Given the description of an element on the screen output the (x, y) to click on. 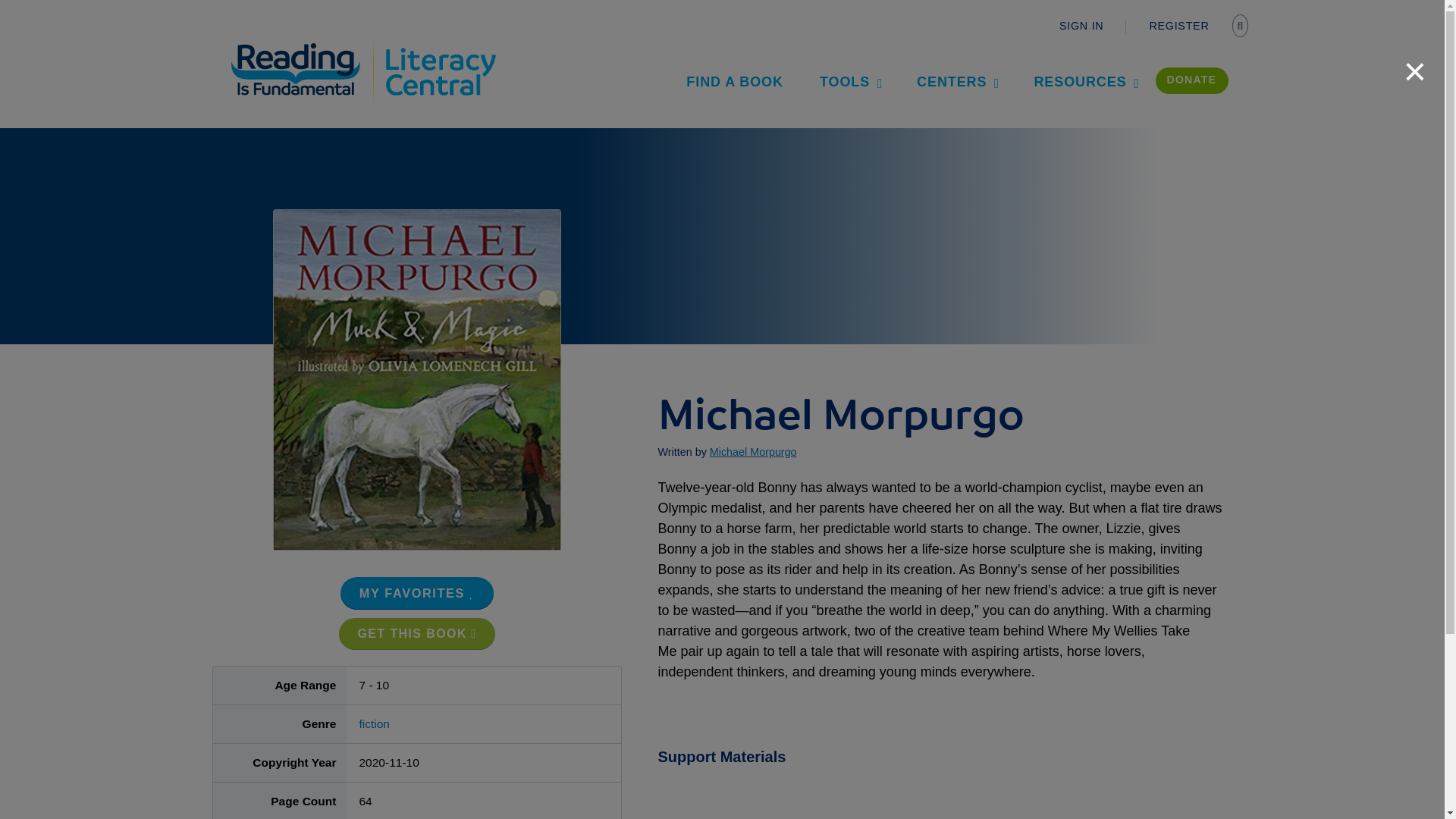
RESOURCES (1084, 81)
Home (305, 47)
TOOLS (850, 81)
REGISTER (1178, 26)
CENTERS (956, 81)
FIND A BOOK (735, 81)
DONATE (1192, 80)
SEARCH (1242, 26)
SIGN IN (1081, 26)
Literacy Central Home (440, 47)
